Given the description of an element on the screen output the (x, y) to click on. 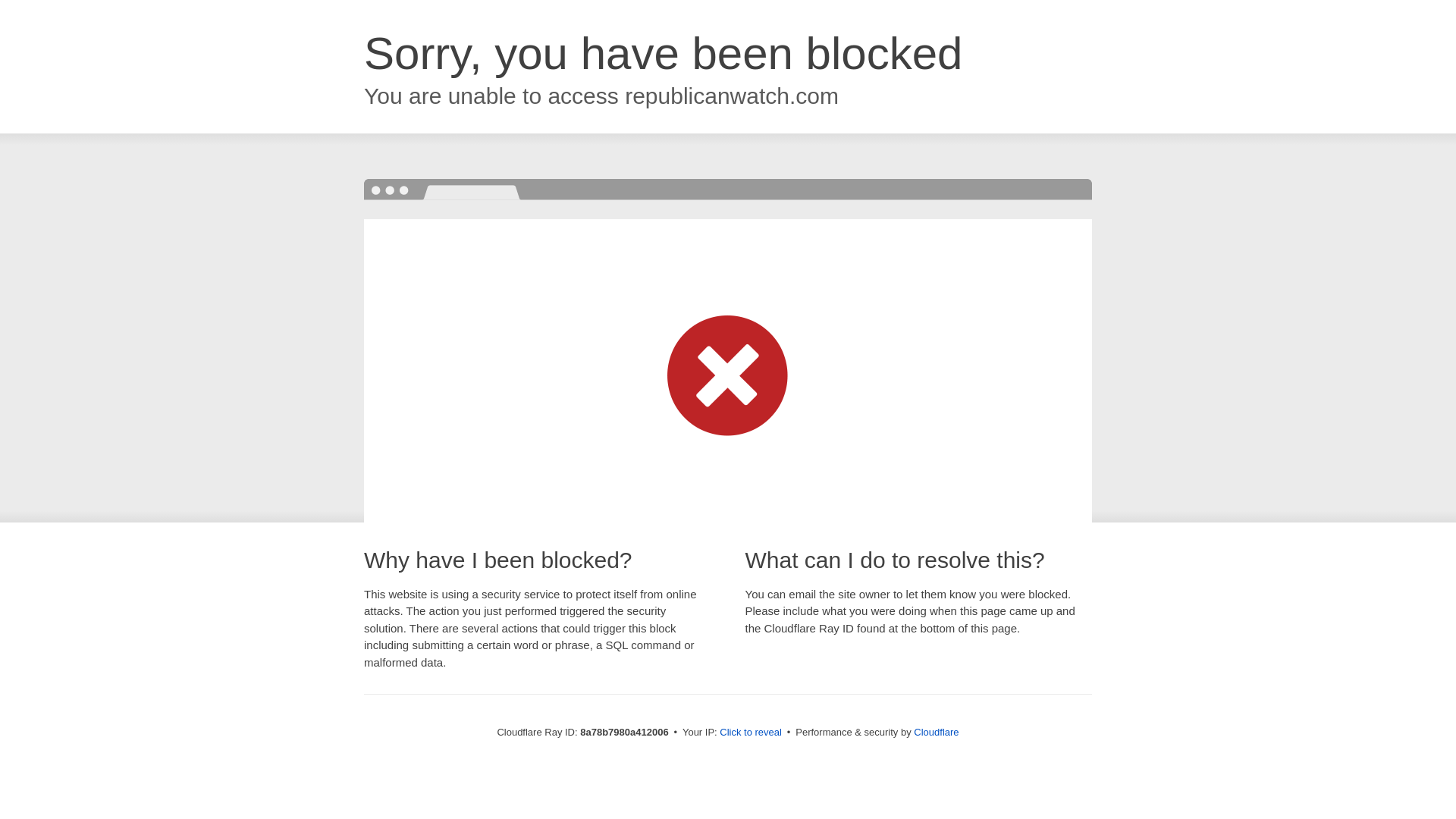
Cloudflare (936, 731)
Click to reveal (750, 732)
